Given the description of an element on the screen output the (x, y) to click on. 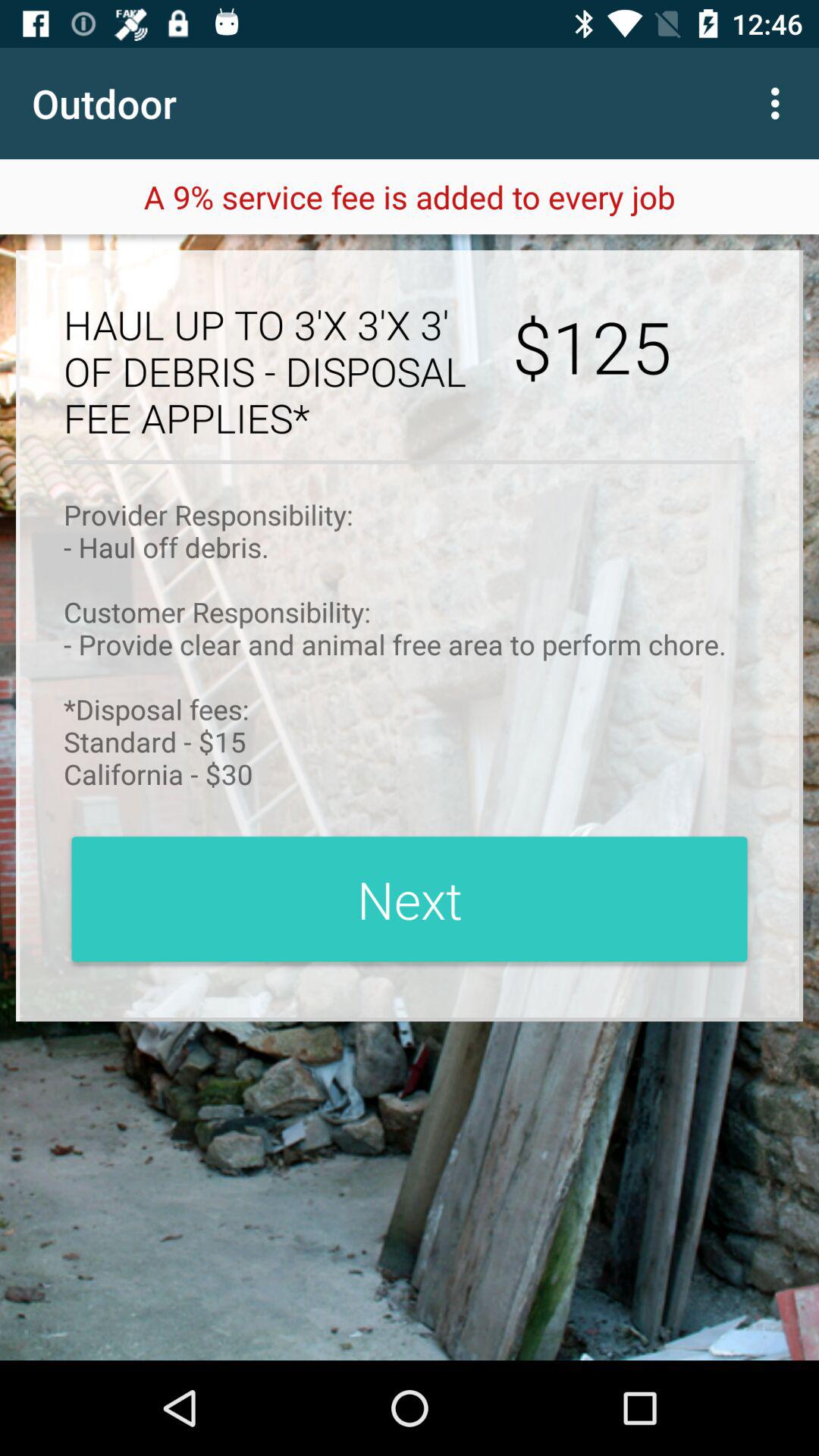
swipe to the next item (409, 898)
